Given the description of an element on the screen output the (x, y) to click on. 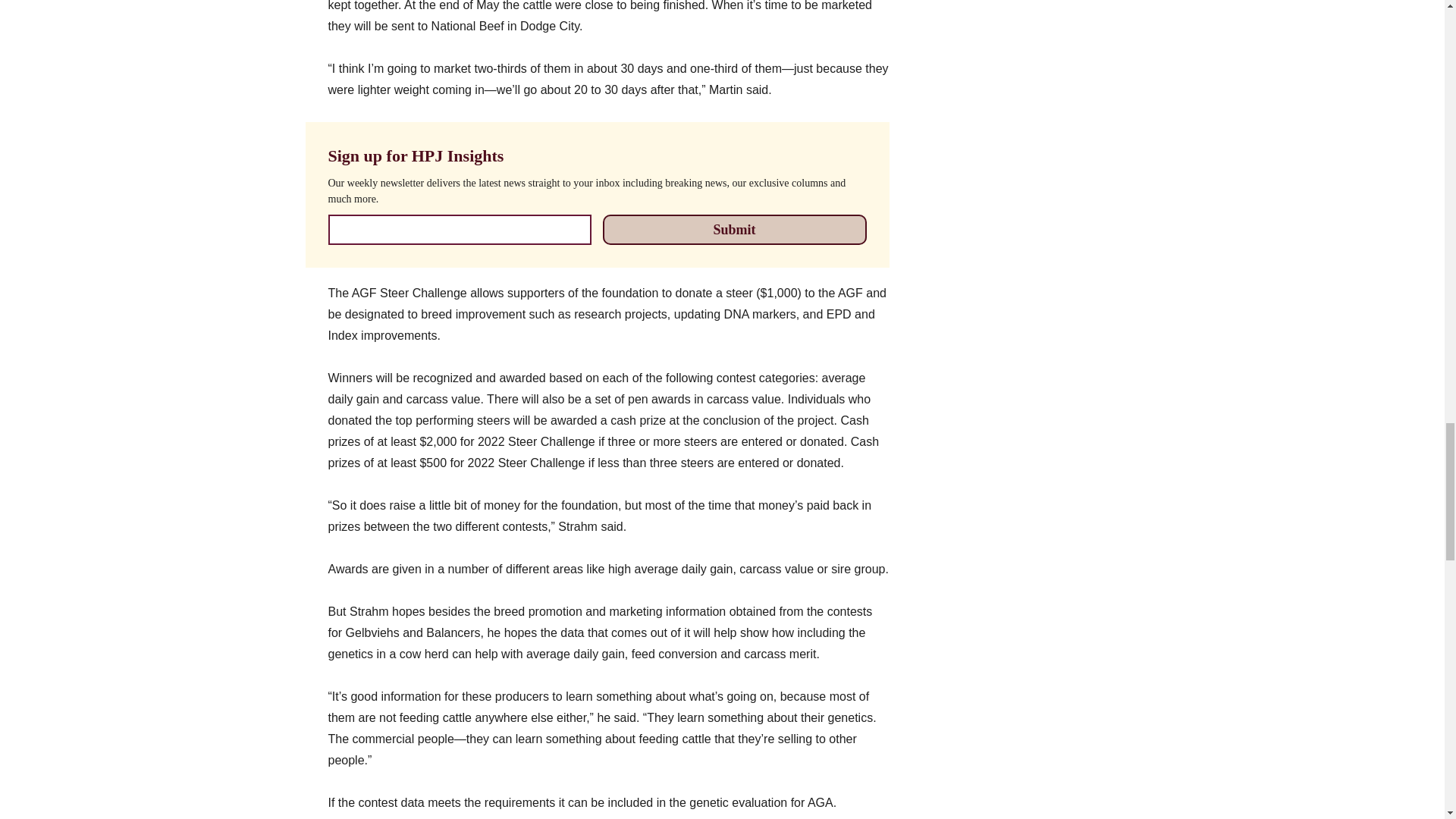
Submit (734, 229)
